Given the description of an element on the screen output the (x, y) to click on. 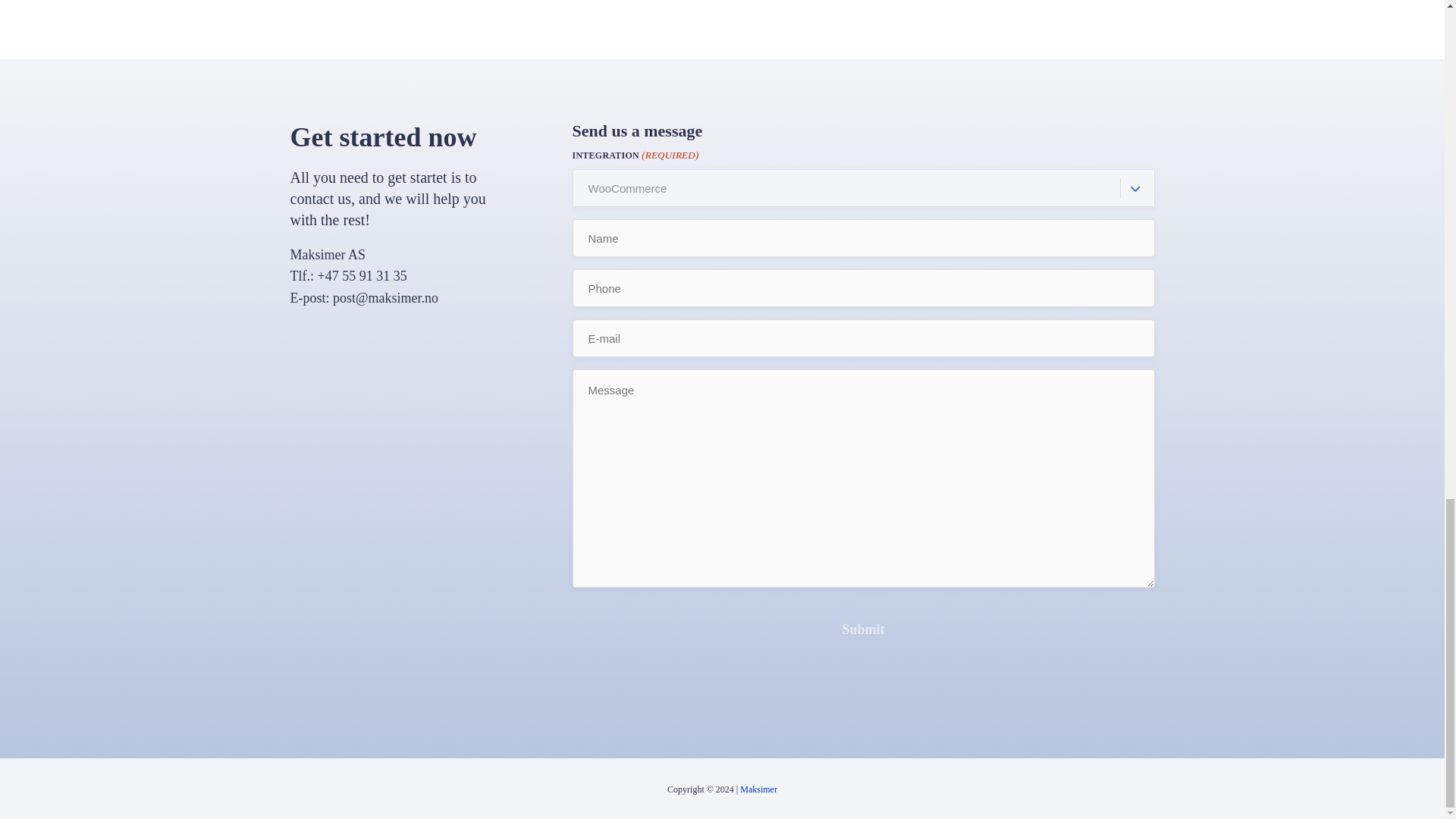
Submit (863, 629)
Maksimer (758, 788)
Submit (863, 629)
